Given the description of an element on the screen output the (x, y) to click on. 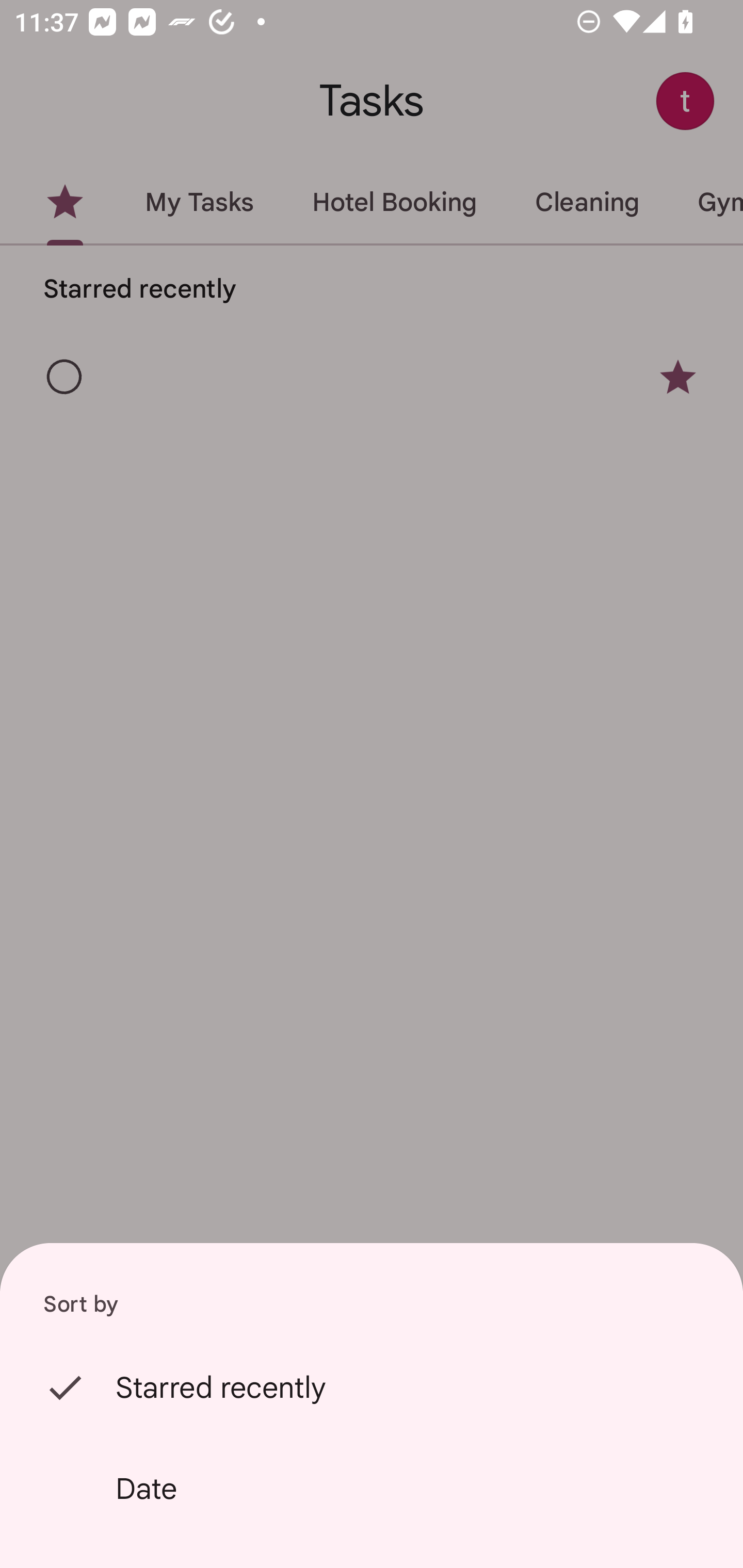
Starred recently (371, 1387)
Date (371, 1488)
